Given the description of an element on the screen output the (x, y) to click on. 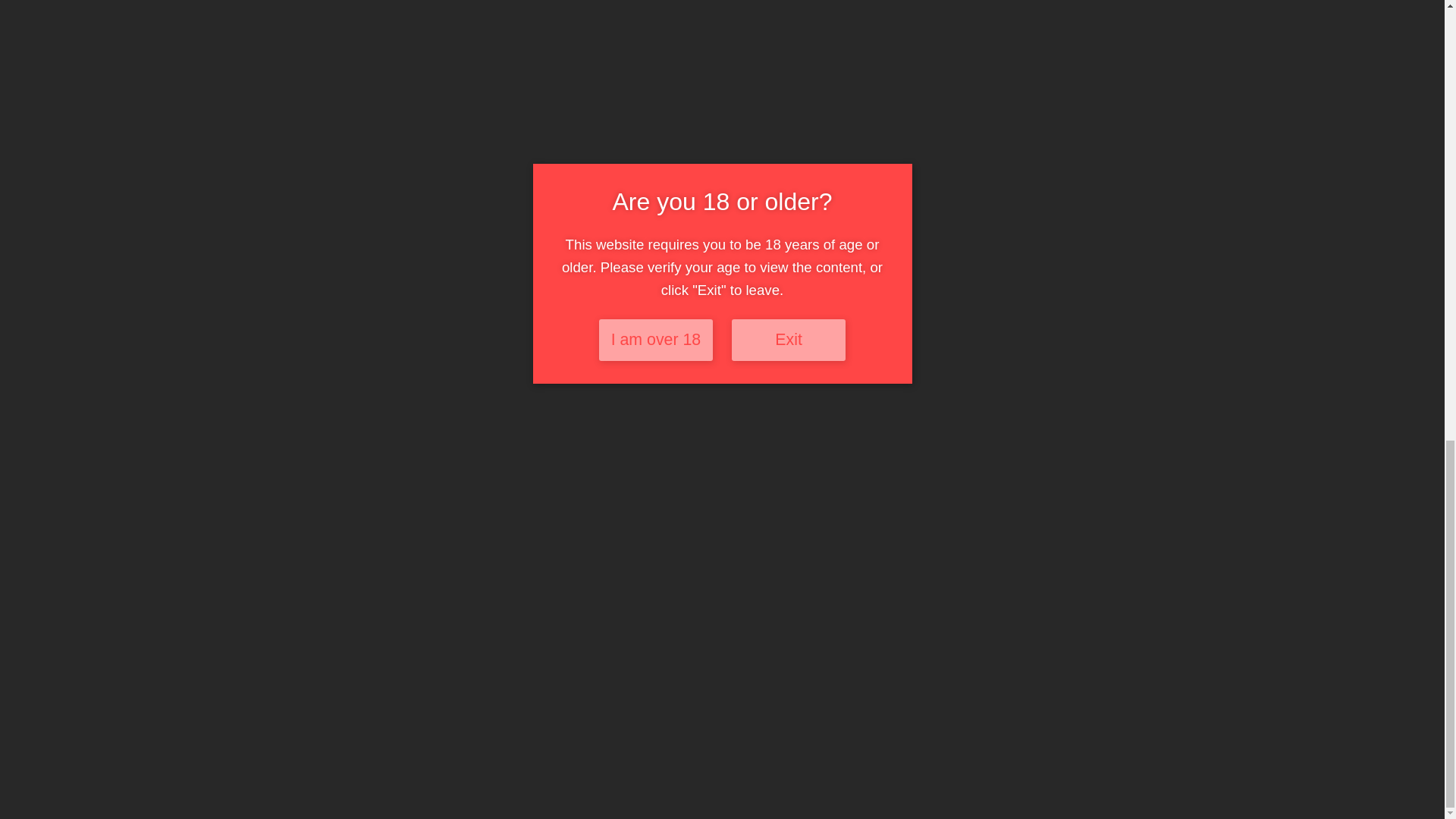
vikings go to hell (570, 413)
slots-cherry-pop-yggdrasil-gaming-logo (807, 262)
Kazino zeppelin (804, 369)
CazinoCosmos (1037, 369)
vikings-go-berzerklogo (575, 264)
